Given the description of an element on the screen output the (x, y) to click on. 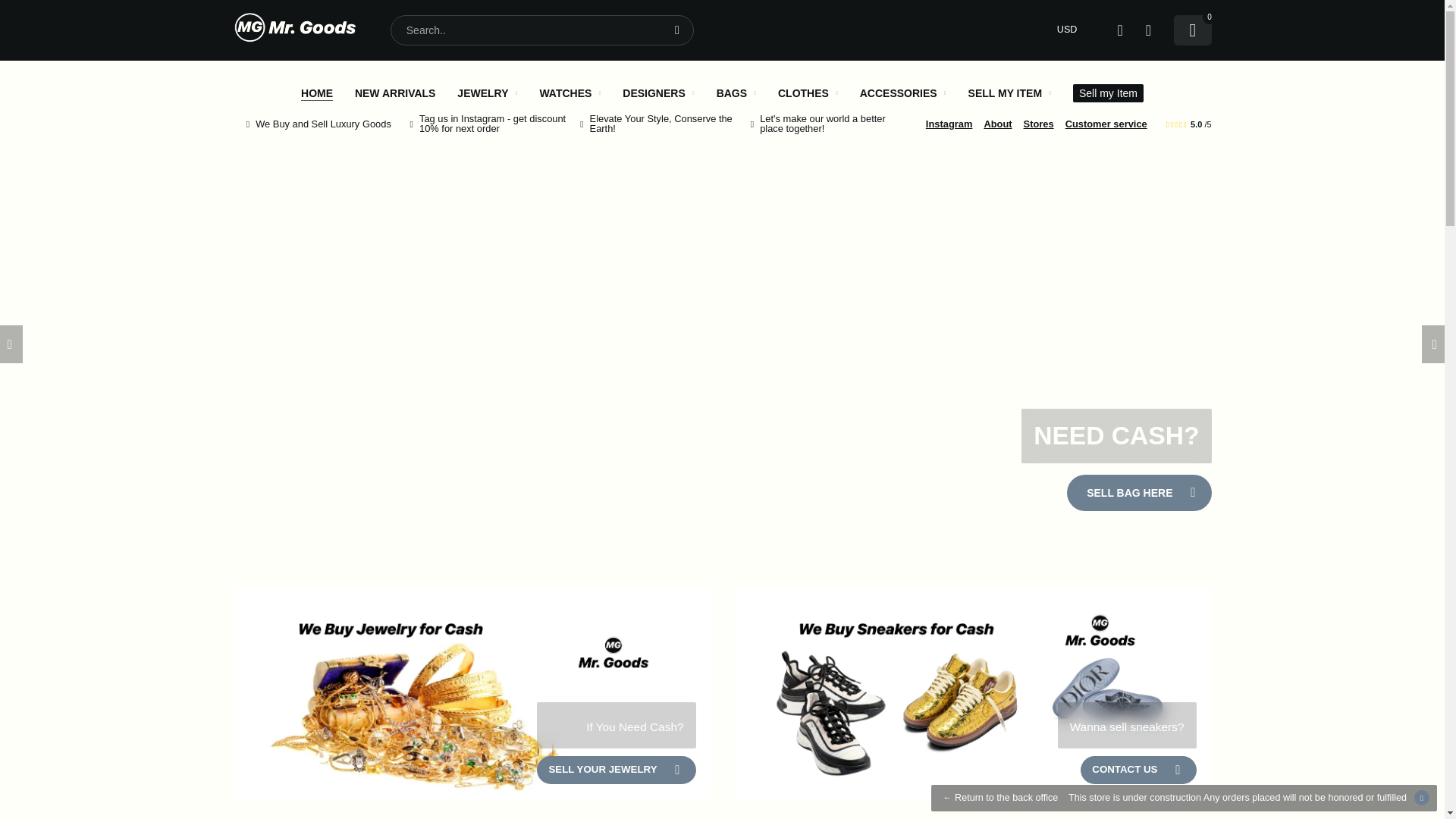
BAGS (735, 92)
JEWELRY (486, 92)
Wish List (1147, 30)
HOME (317, 92)
WATCHES (568, 92)
NEW ARRIVALS (395, 92)
0 (1192, 30)
DESIGNERS (658, 92)
My account (1119, 30)
CLOTHES (807, 92)
